Given the description of an element on the screen output the (x, y) to click on. 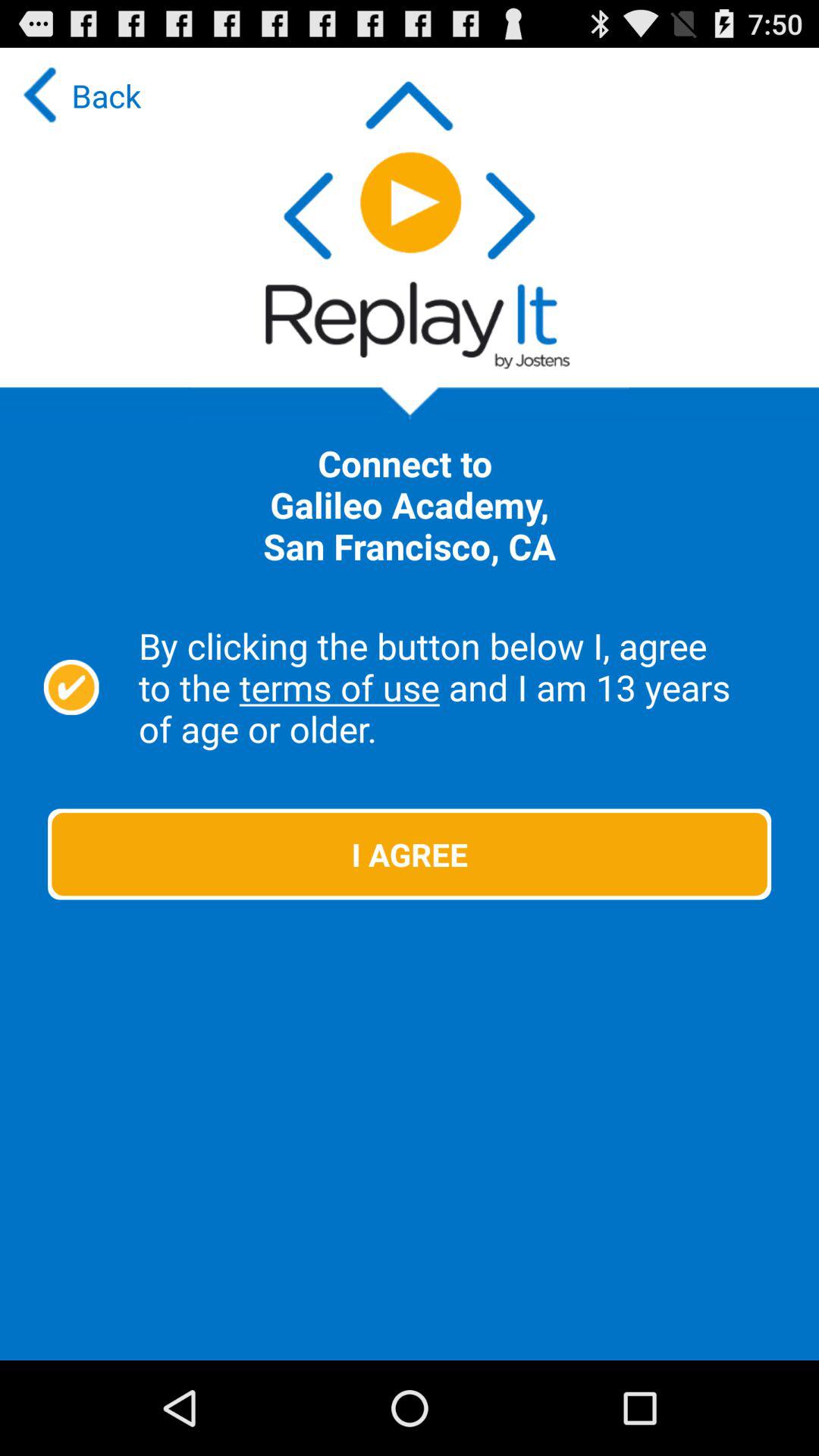
tap the icon above the i agree (70, 686)
